Given the description of an element on the screen output the (x, y) to click on. 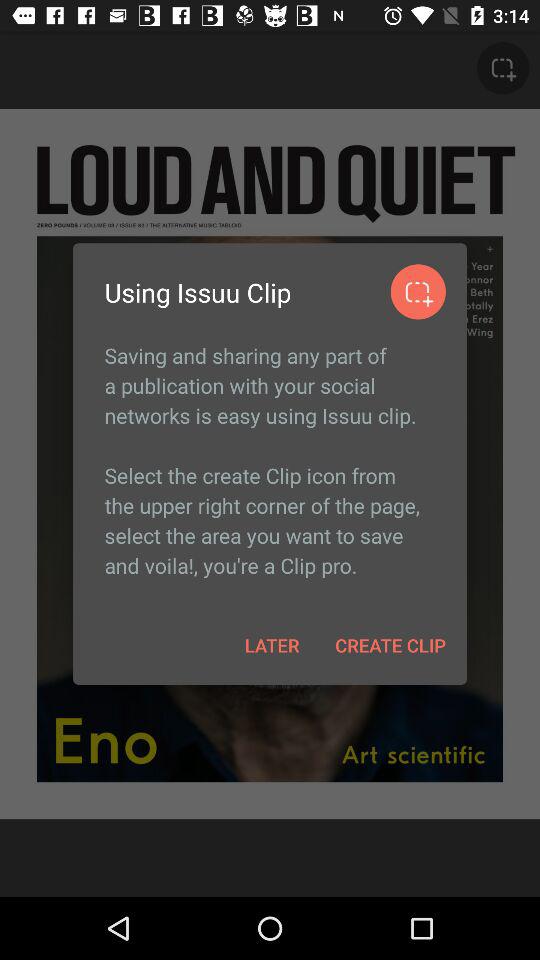
scroll until later (272, 644)
